Given the description of an element on the screen output the (x, y) to click on. 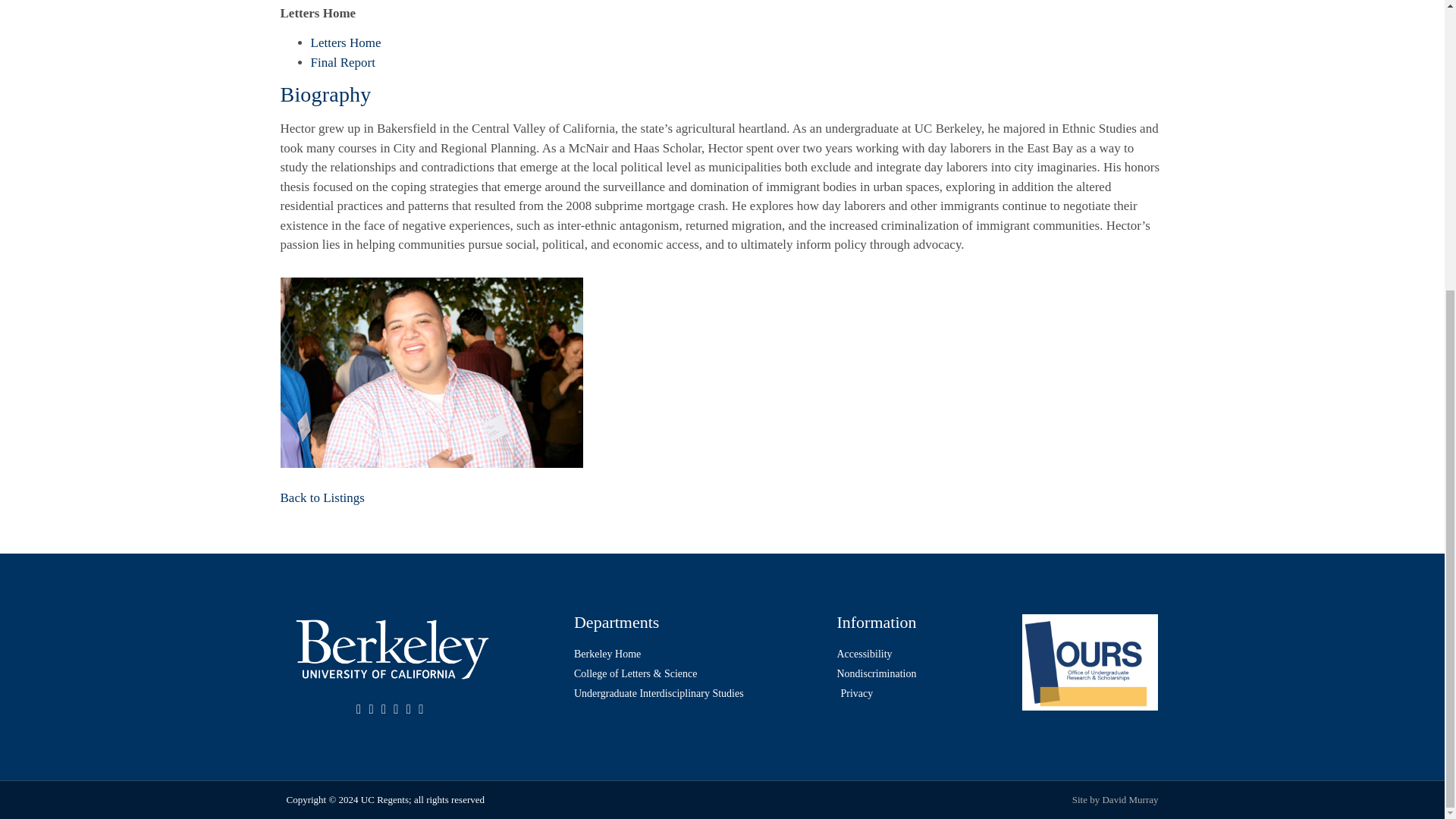
Letters Home (346, 42)
Final Report (343, 62)
Back to Listings (323, 497)
